Given the description of an element on the screen output the (x, y) to click on. 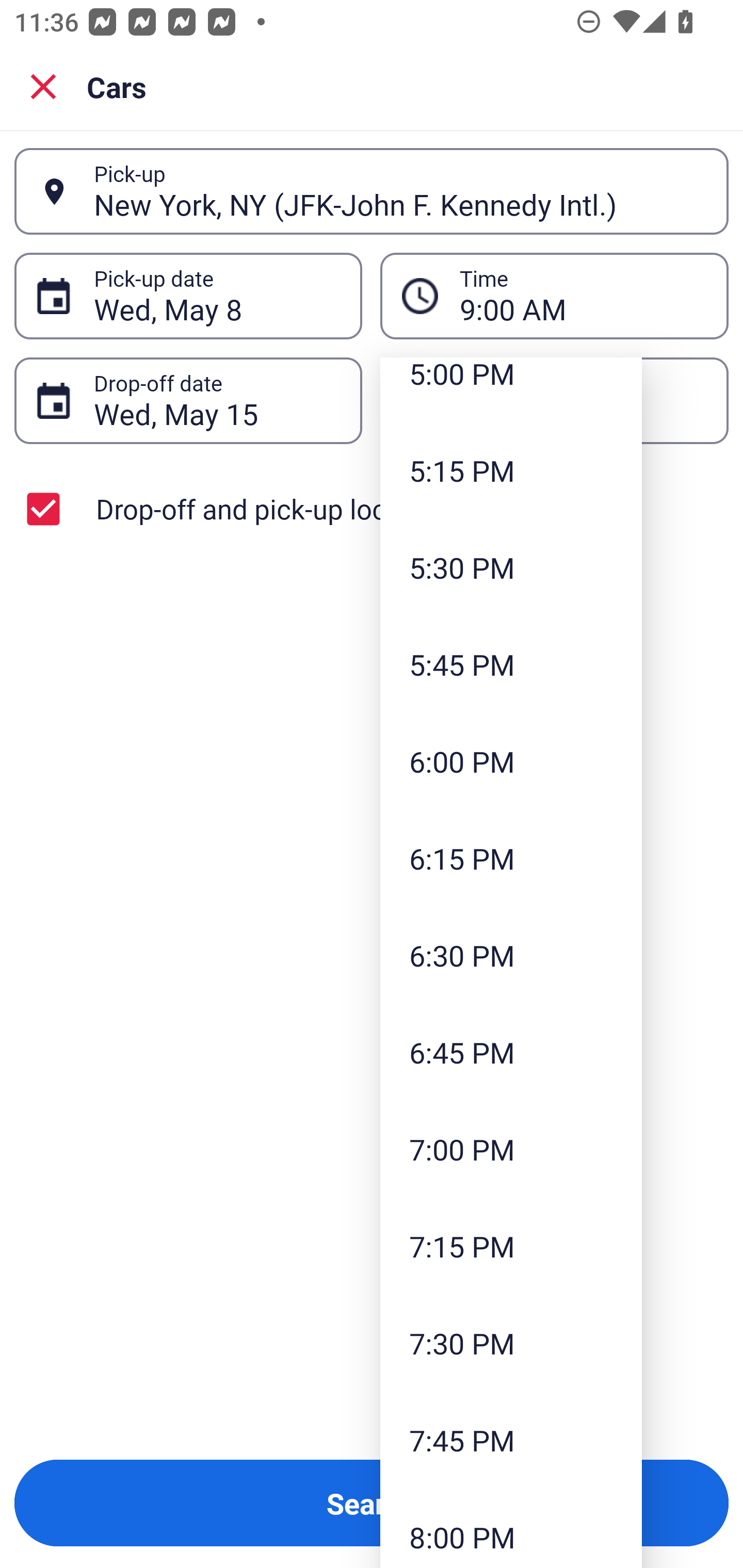
5:00 PM (510, 389)
5:15 PM (510, 470)
5:30 PM (510, 567)
5:45 PM (510, 664)
6:00 PM (510, 761)
6:15 PM (510, 857)
6:30 PM (510, 954)
6:45 PM (510, 1051)
7:00 PM (510, 1148)
7:15 PM (510, 1246)
7:30 PM (510, 1343)
7:45 PM (510, 1440)
8:00 PM (510, 1528)
